Given the description of an element on the screen output the (x, y) to click on. 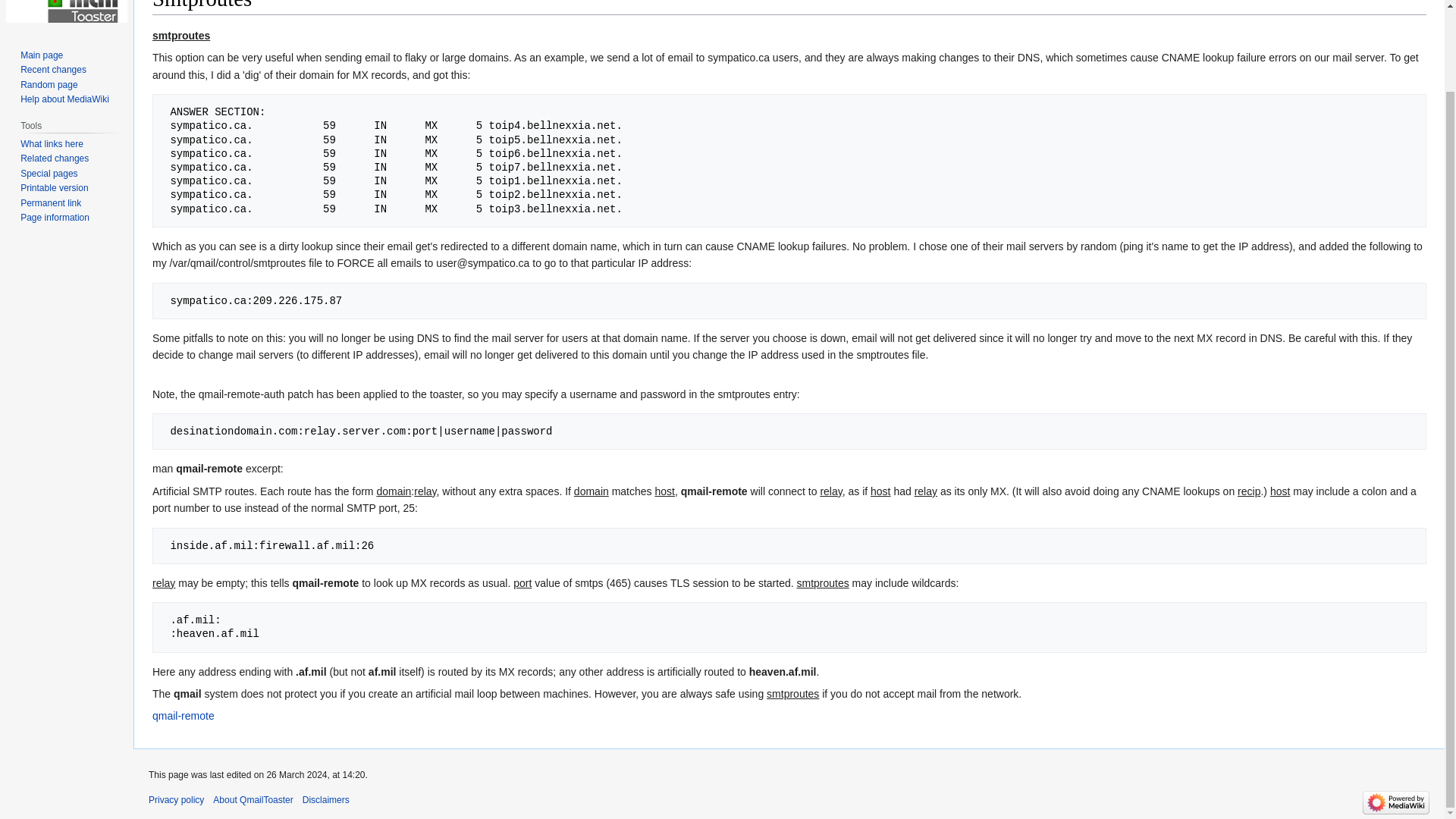
qmail-remote (183, 715)
Recent changes (52, 69)
Help about MediaWiki (64, 99)
Printable version (53, 187)
Main page (41, 54)
Visit the main page (66, 14)
Special pages (48, 173)
Control Files by Function (183, 715)
Disclaimers (325, 799)
Privacy policy (175, 799)
